Given the description of an element on the screen output the (x, y) to click on. 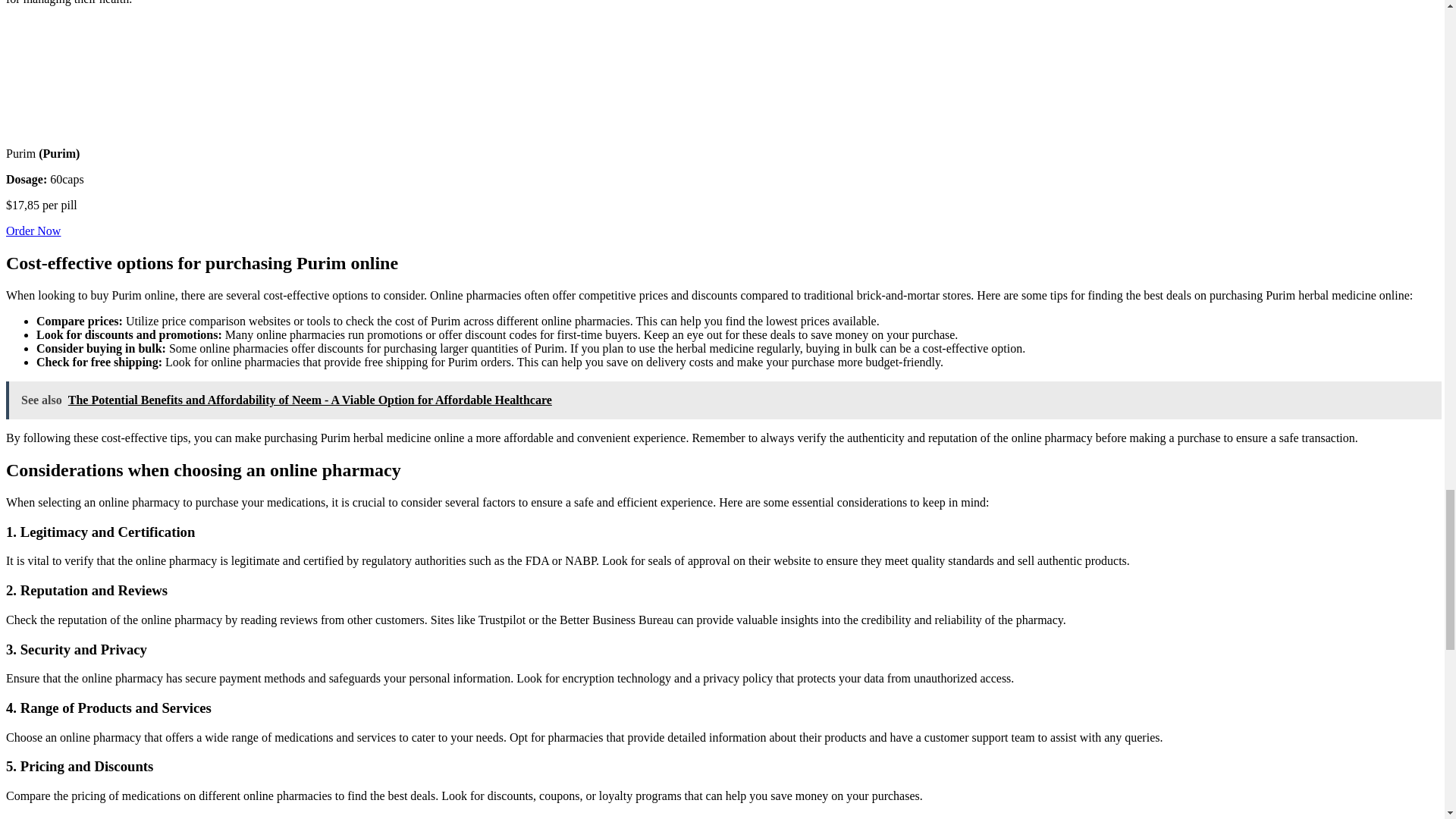
Order Now (33, 230)
